Given the description of an element on the screen output the (x, y) to click on. 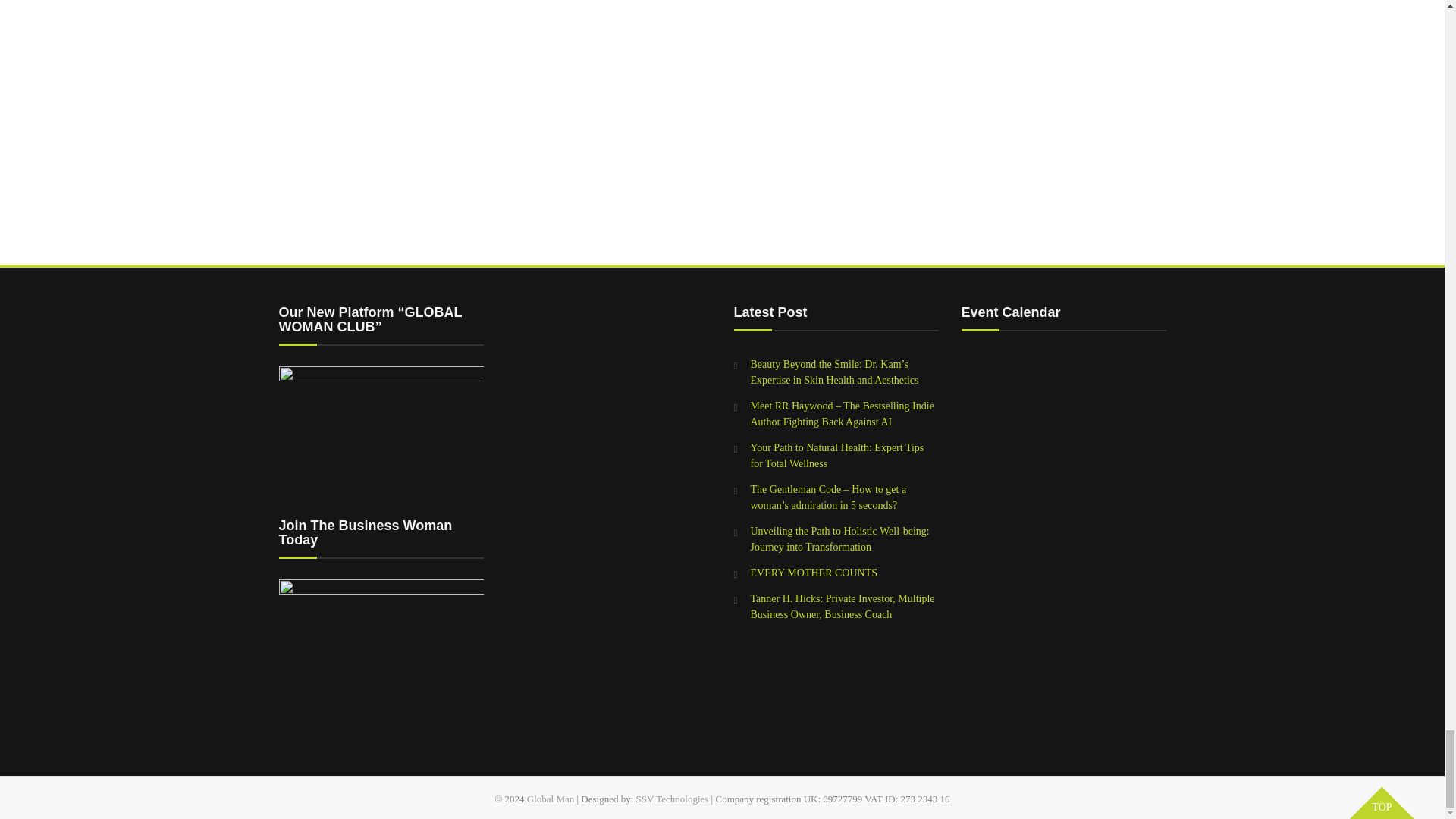
SSV Technologies (672, 798)
Global Man (550, 798)
